Given the description of an element on the screen output the (x, y) to click on. 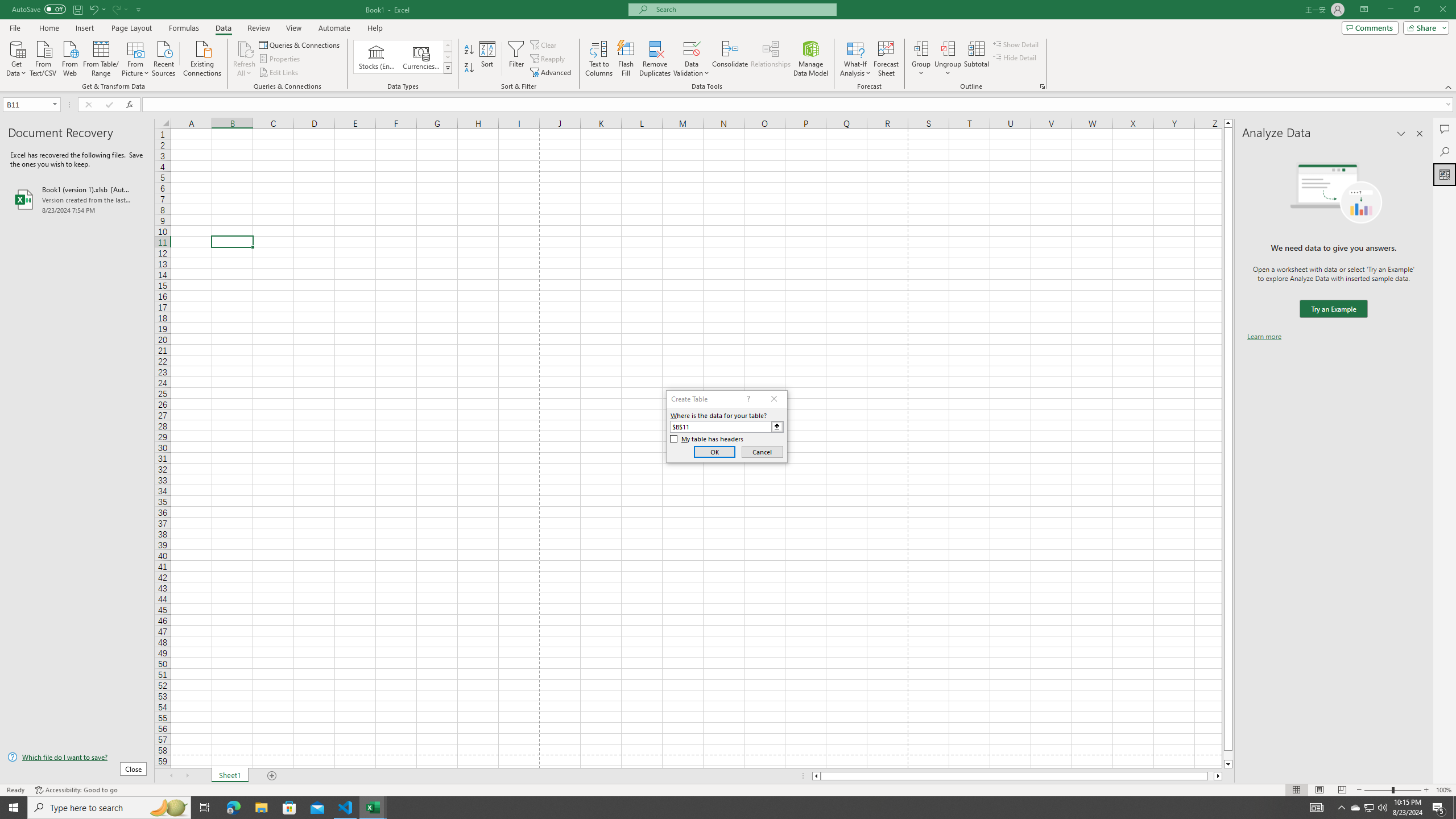
Consolidate... (729, 58)
